Given the description of an element on the screen output the (x, y) to click on. 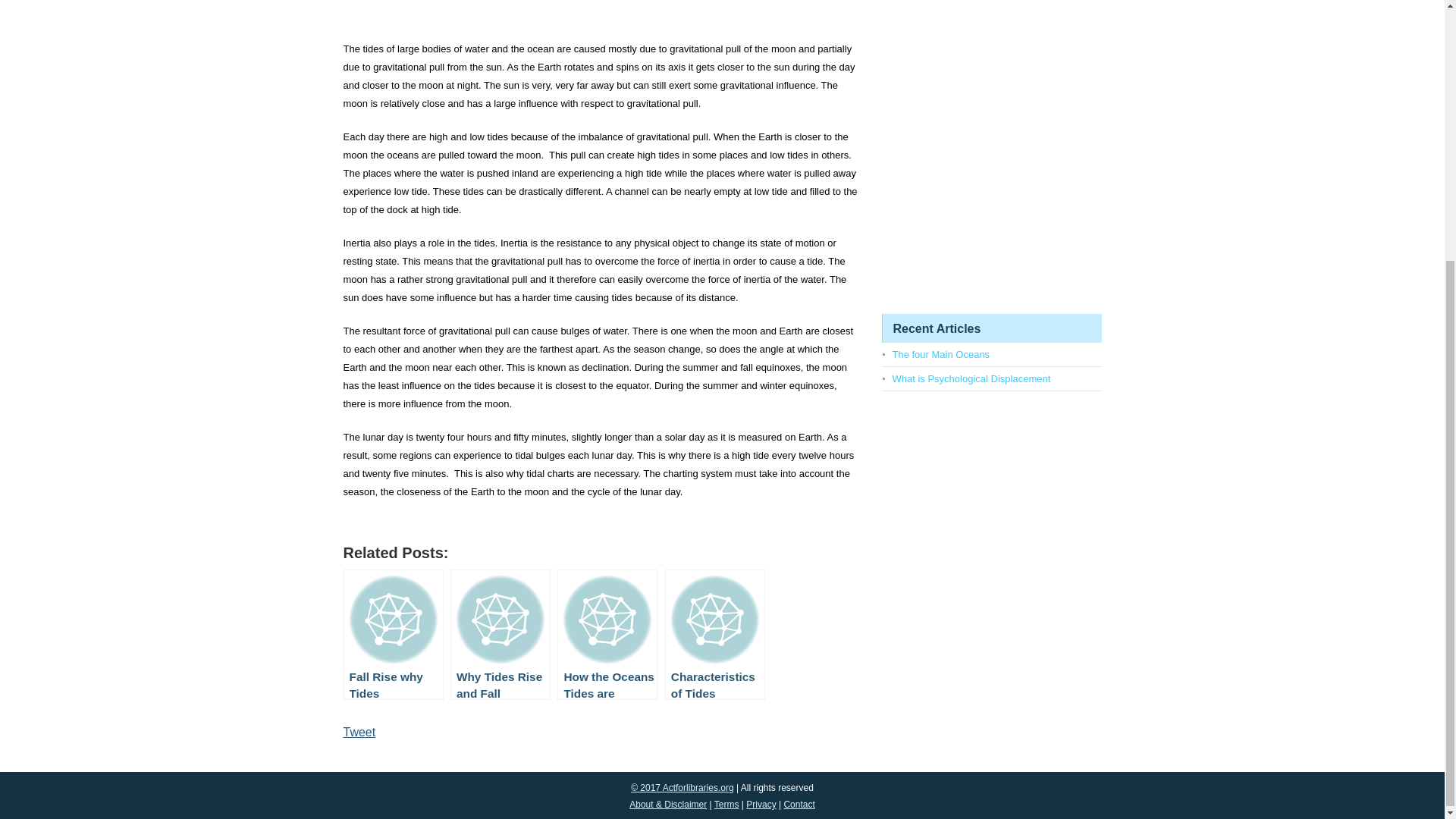
Privacy (760, 804)
What is Psychological Displacement (970, 378)
Contact (798, 804)
Advertisement (600, 16)
The four Main Oceans (940, 354)
Terms (726, 804)
Tweet (358, 731)
